Given the description of an element on the screen output the (x, y) to click on. 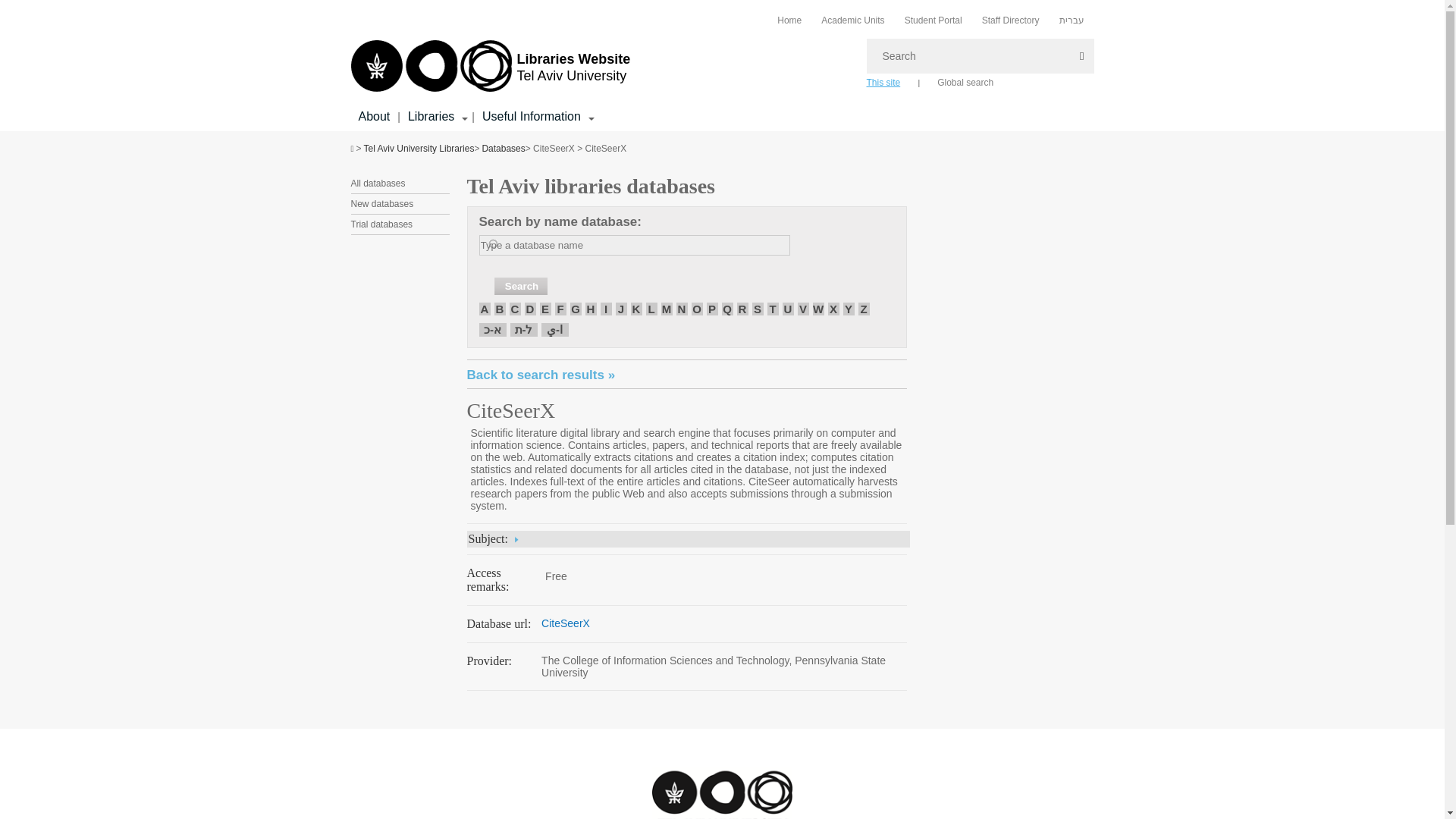
Search (521, 285)
Academic Units (852, 20)
Staff Directory (1010, 20)
Staff Directory (1010, 20)
Academic Units (852, 20)
Home (789, 20)
Databases (502, 148)
Home (789, 20)
Tel Aviv University Libraries (419, 148)
All databases (377, 183)
Libraries (430, 116)
Student Portal (490, 66)
About (933, 20)
